Given the description of an element on the screen output the (x, y) to click on. 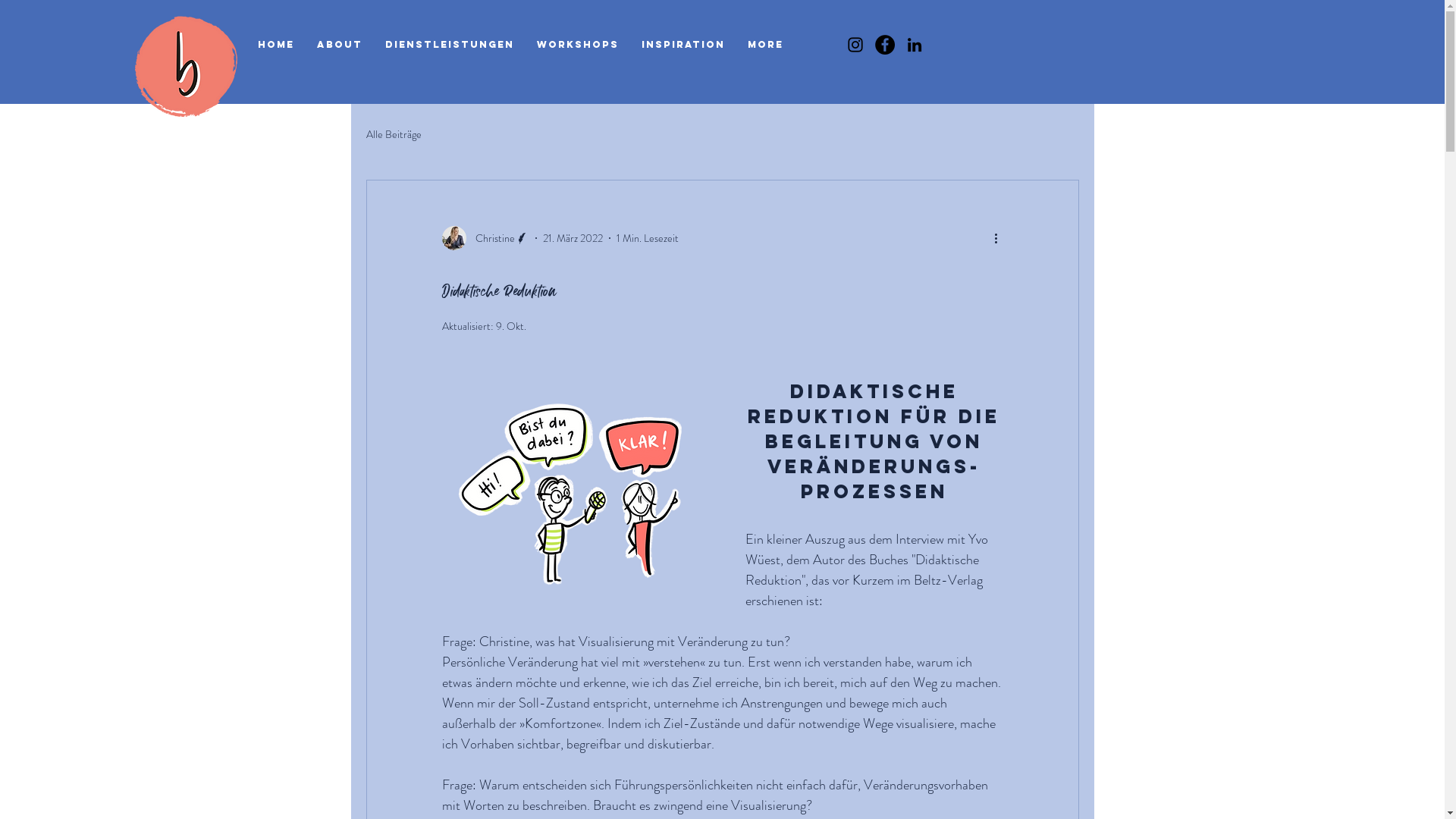
Christine Element type: text (484, 237)
Inspiration Element type: text (683, 44)
Workshops Element type: text (577, 44)
About Element type: text (339, 44)
Dienstleistungen Element type: text (449, 44)
Home Element type: text (275, 44)
